Given the description of an element on the screen output the (x, y) to click on. 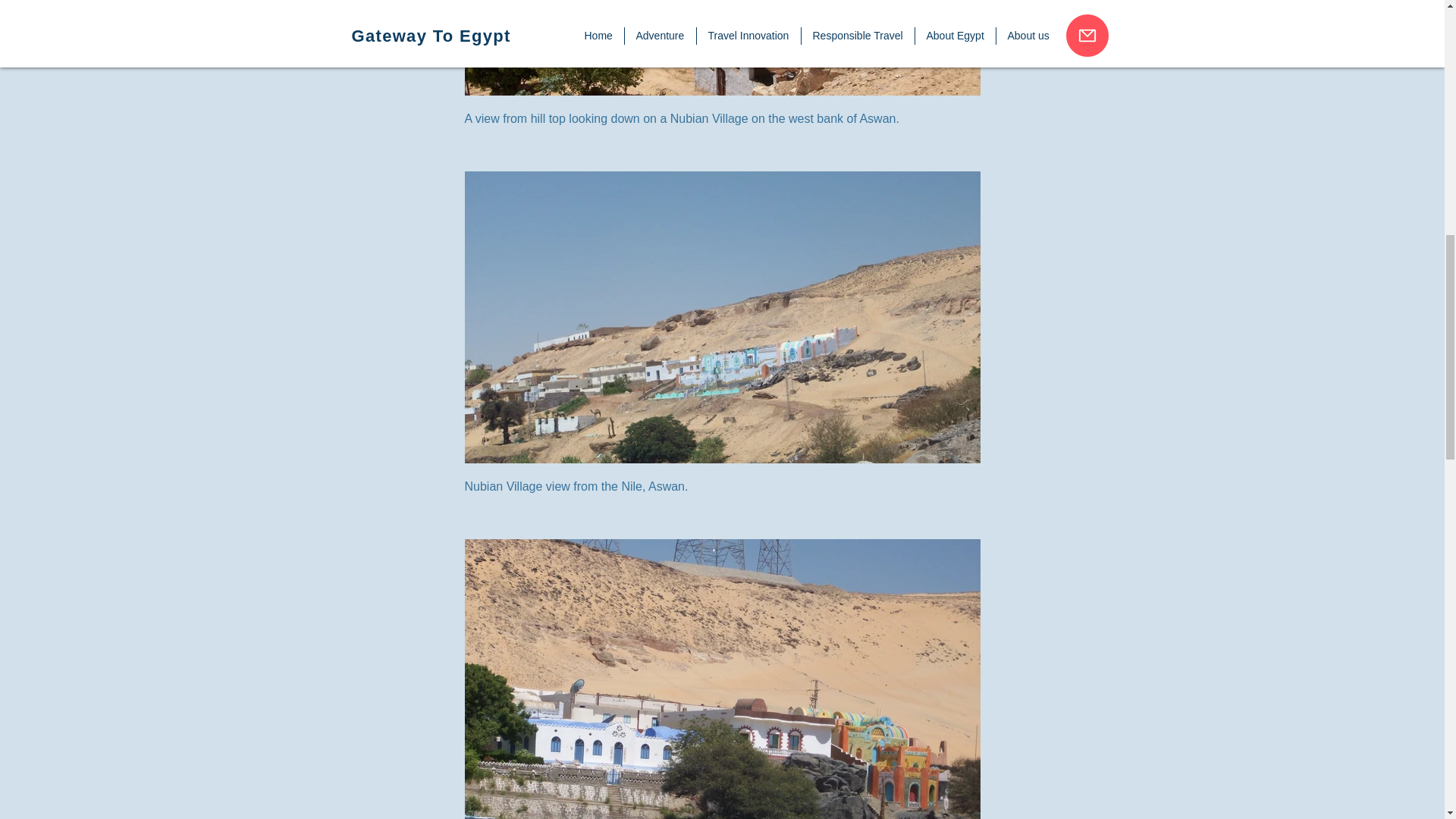
Aswan (721, 47)
